Given the description of an element on the screen output the (x, y) to click on. 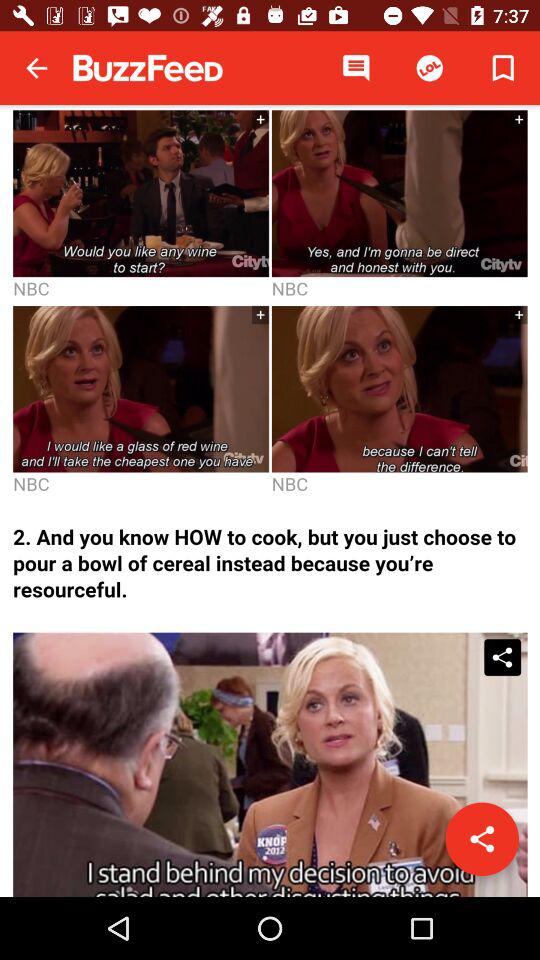
share the image (482, 839)
